Given the description of an element on the screen output the (x, y) to click on. 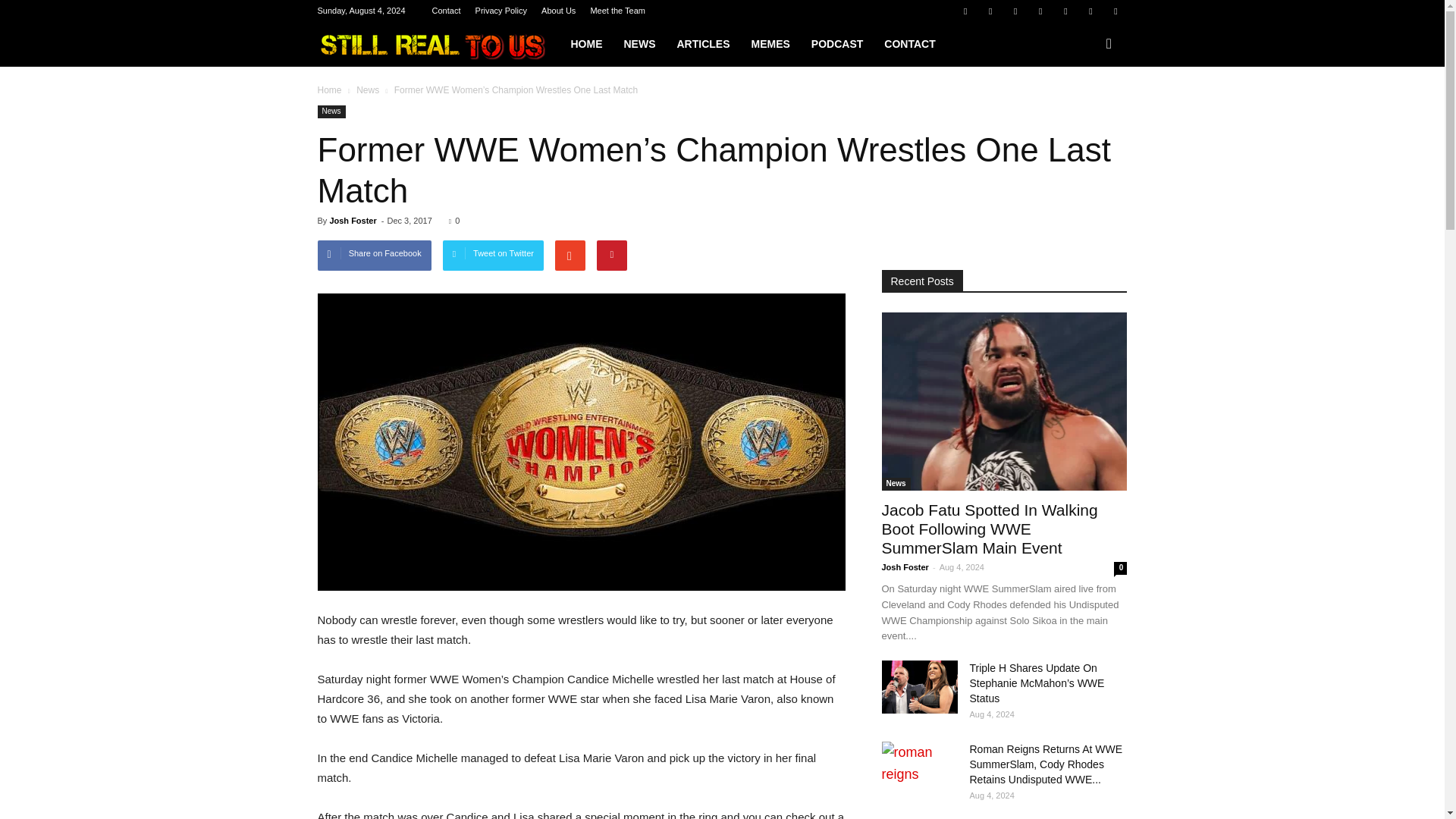
Soundcloud (1065, 10)
Privacy Policy (501, 10)
Pinterest (1040, 10)
CONTACT (908, 43)
PODCAST (836, 43)
Facebook (964, 10)
HOME (585, 43)
Contact (446, 10)
Instagram (1015, 10)
MEMES (769, 43)
